Given the description of an element on the screen output the (x, y) to click on. 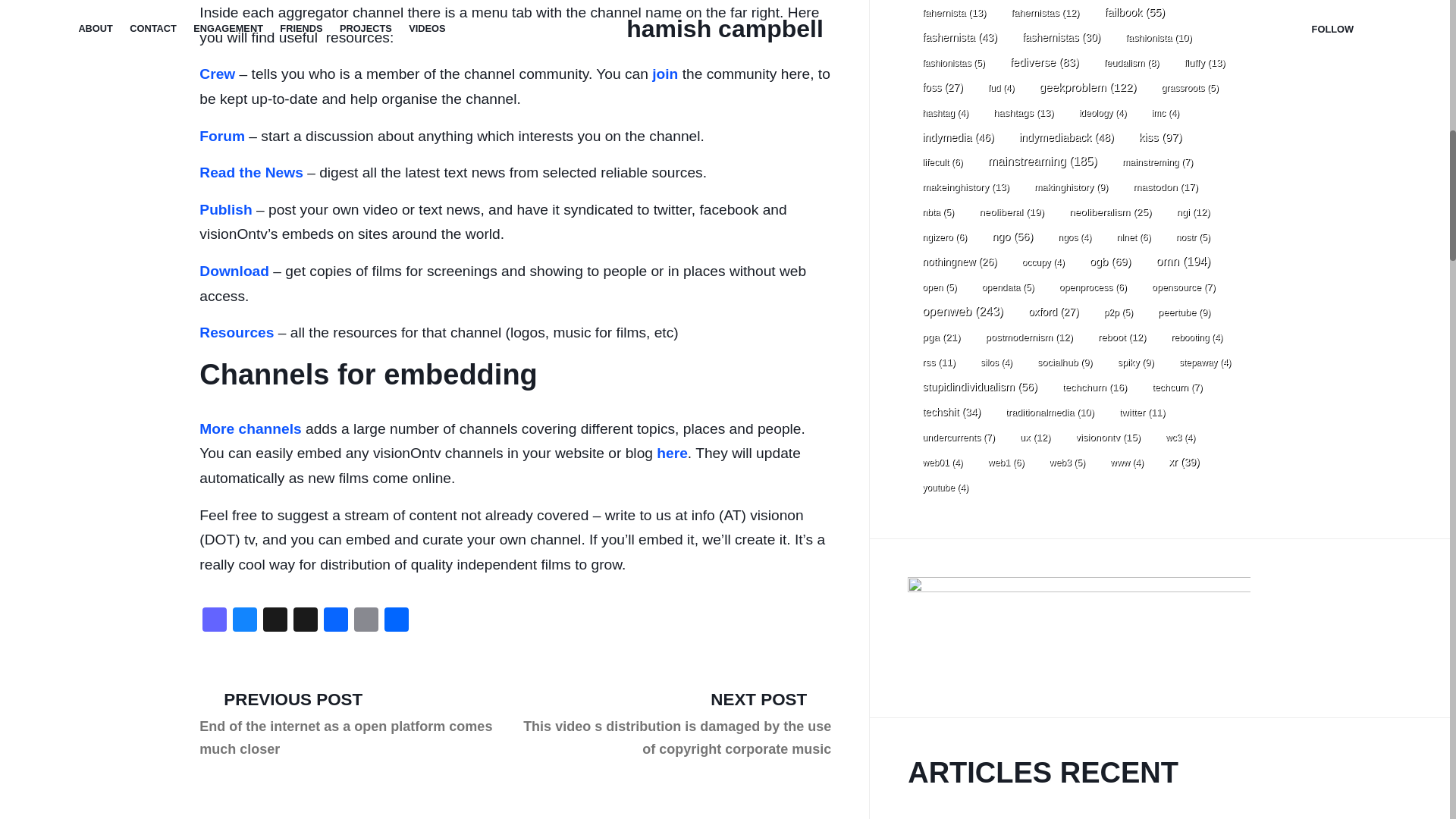
X (304, 621)
Threads (274, 621)
Bluesky (245, 621)
Mastodon (214, 621)
Facebook (335, 621)
Email (365, 621)
